Given the description of an element on the screen output the (x, y) to click on. 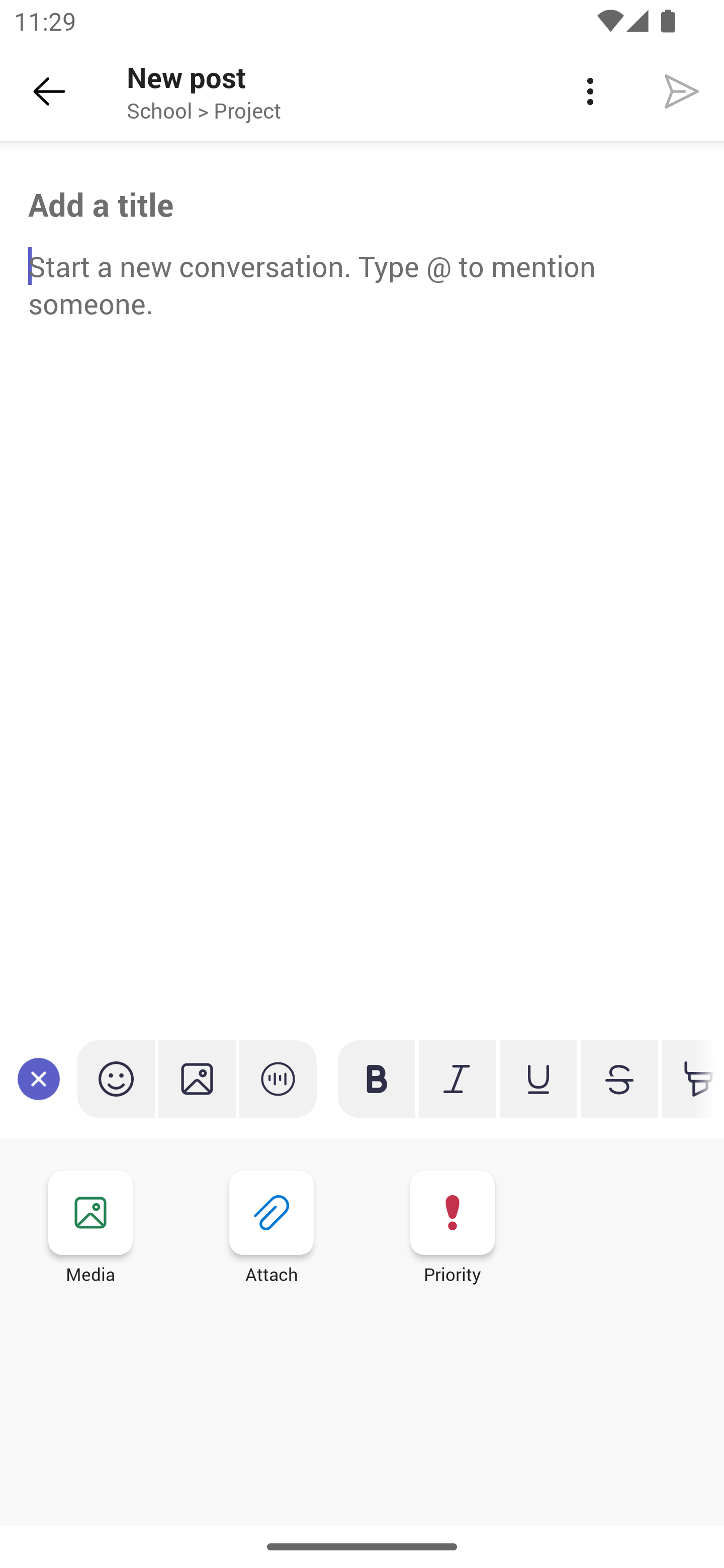
Back (49, 91)
Email options (589, 91)
Send message (681, 90)
Add a title (362, 204)
Compose options, expanded (38, 1078)
GIFs and emojis picker (115, 1078)
Media (197, 1078)
Record audio message (278, 1078)
Bold (376, 1078)
Italic (456, 1078)
Underline (538, 1078)
Strikethrough (619, 1078)
Select text highlight color (688, 1078)
Media (90, 1230)
Attach (271, 1230)
Priority (452, 1230)
